Given the description of an element on the screen output the (x, y) to click on. 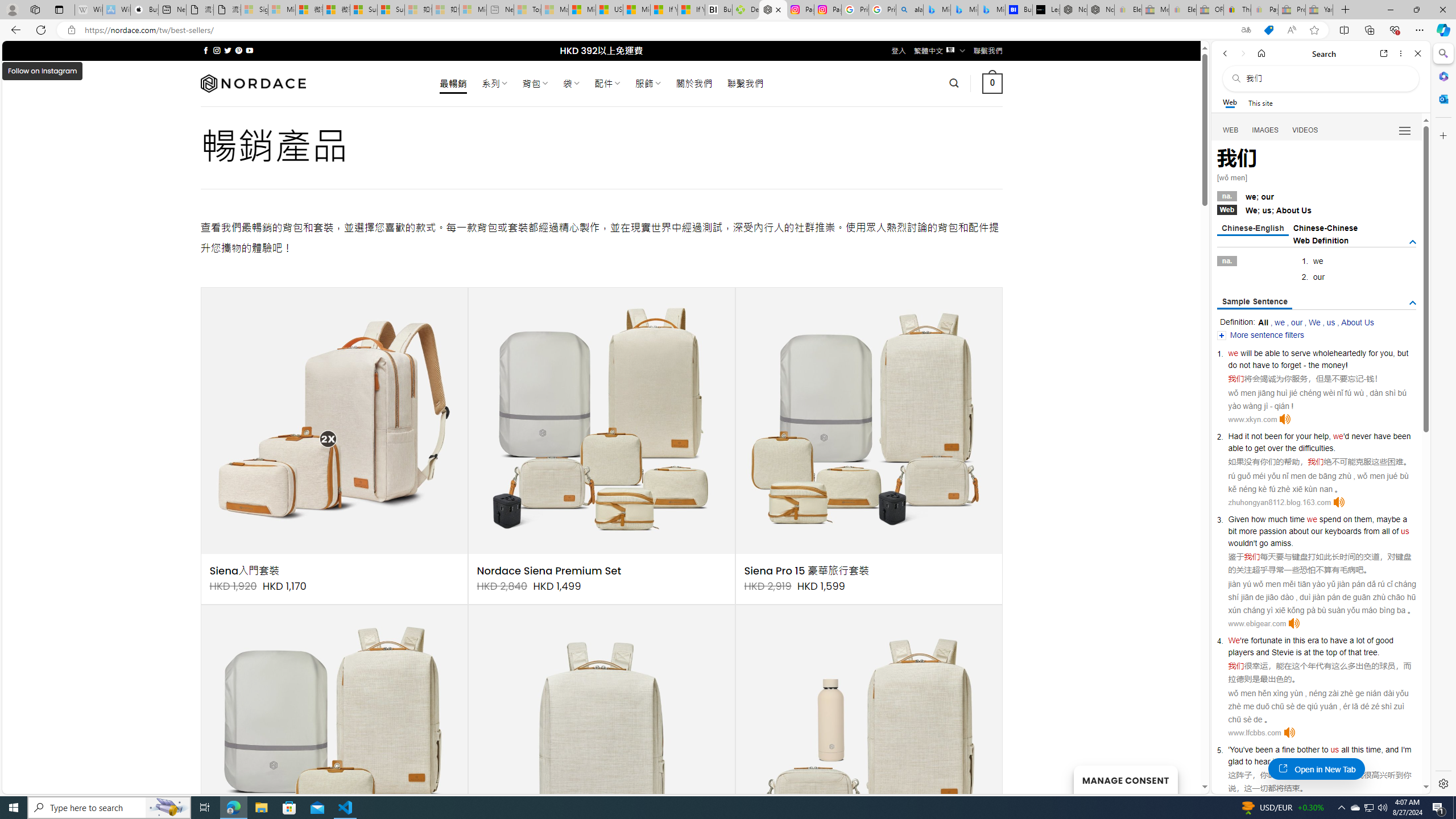
our (1296, 322)
be (1258, 352)
amiss (1280, 542)
never (1361, 435)
